Given the description of an element on the screen output the (x, y) to click on. 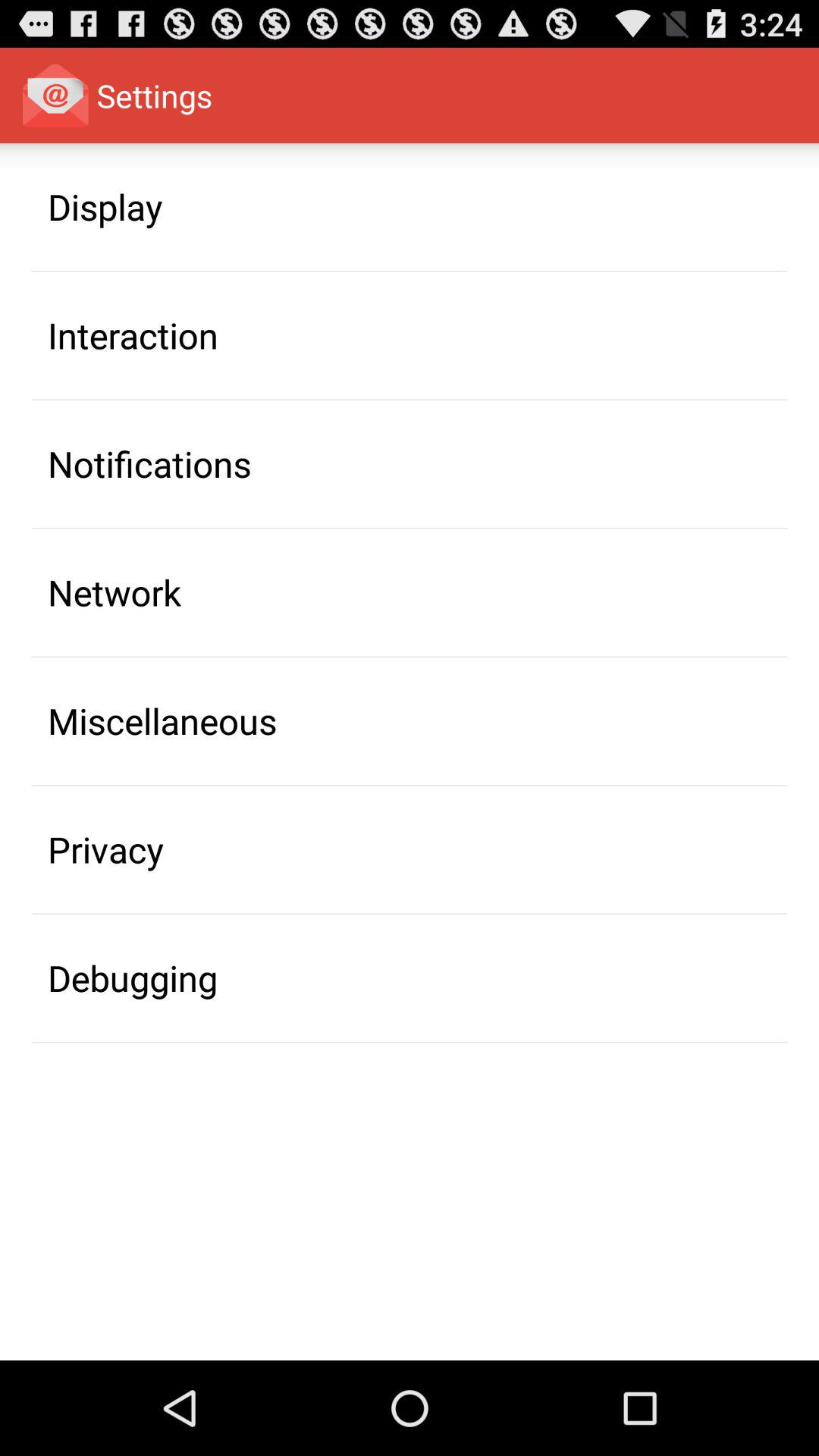
select the app below notifications app (114, 592)
